Given the description of an element on the screen output the (x, y) to click on. 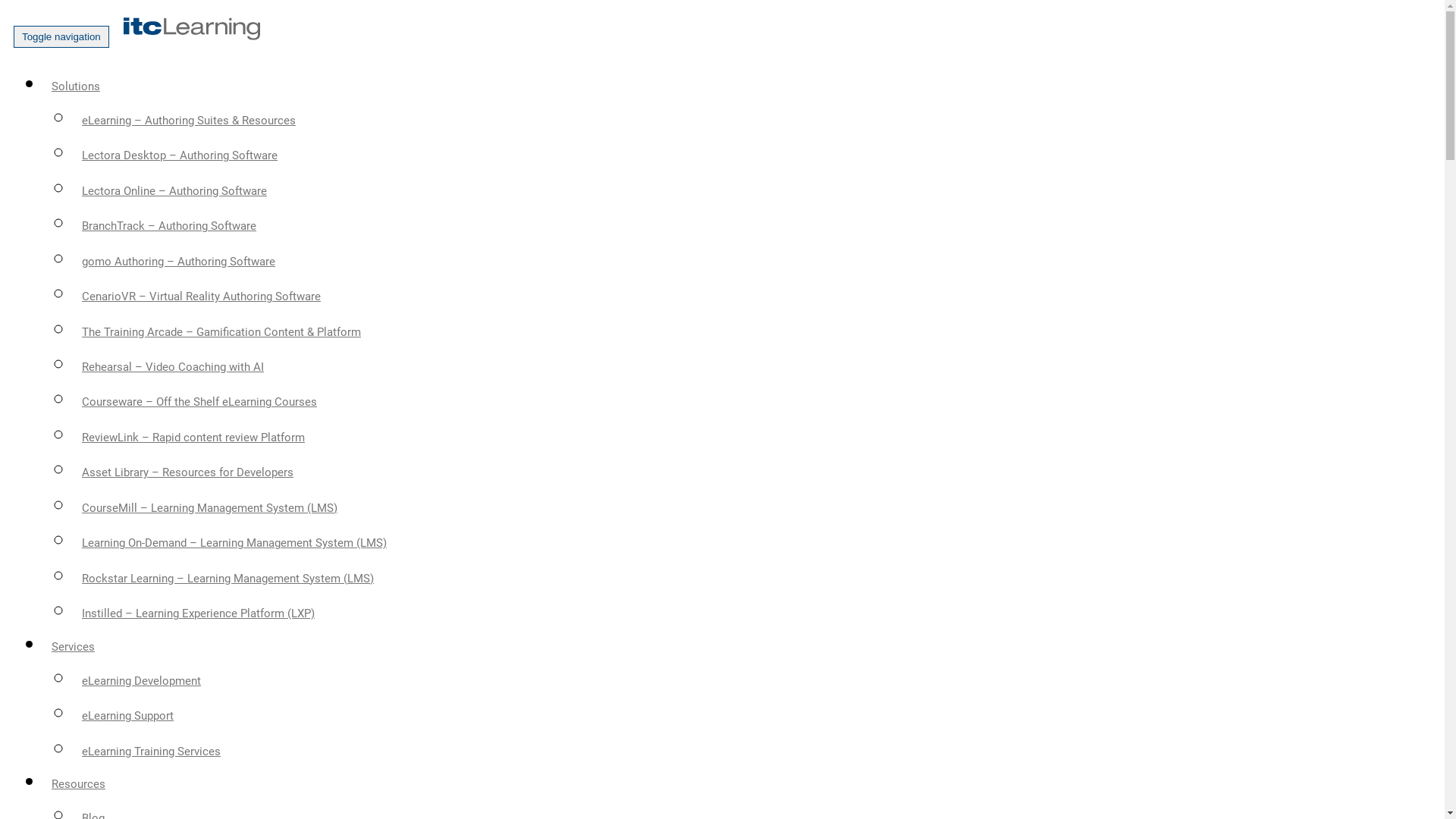
Solutions Element type: text (75, 86)
eLearning Development Element type: text (141, 680)
eLearning Training Services Element type: text (151, 751)
Resources Element type: text (77, 783)
Toggle navigation Element type: text (61, 36)
Skip to content Element type: text (5, 5)
eLearning Support Element type: text (127, 715)
Services Element type: text (72, 646)
